Given the description of an element on the screen output the (x, y) to click on. 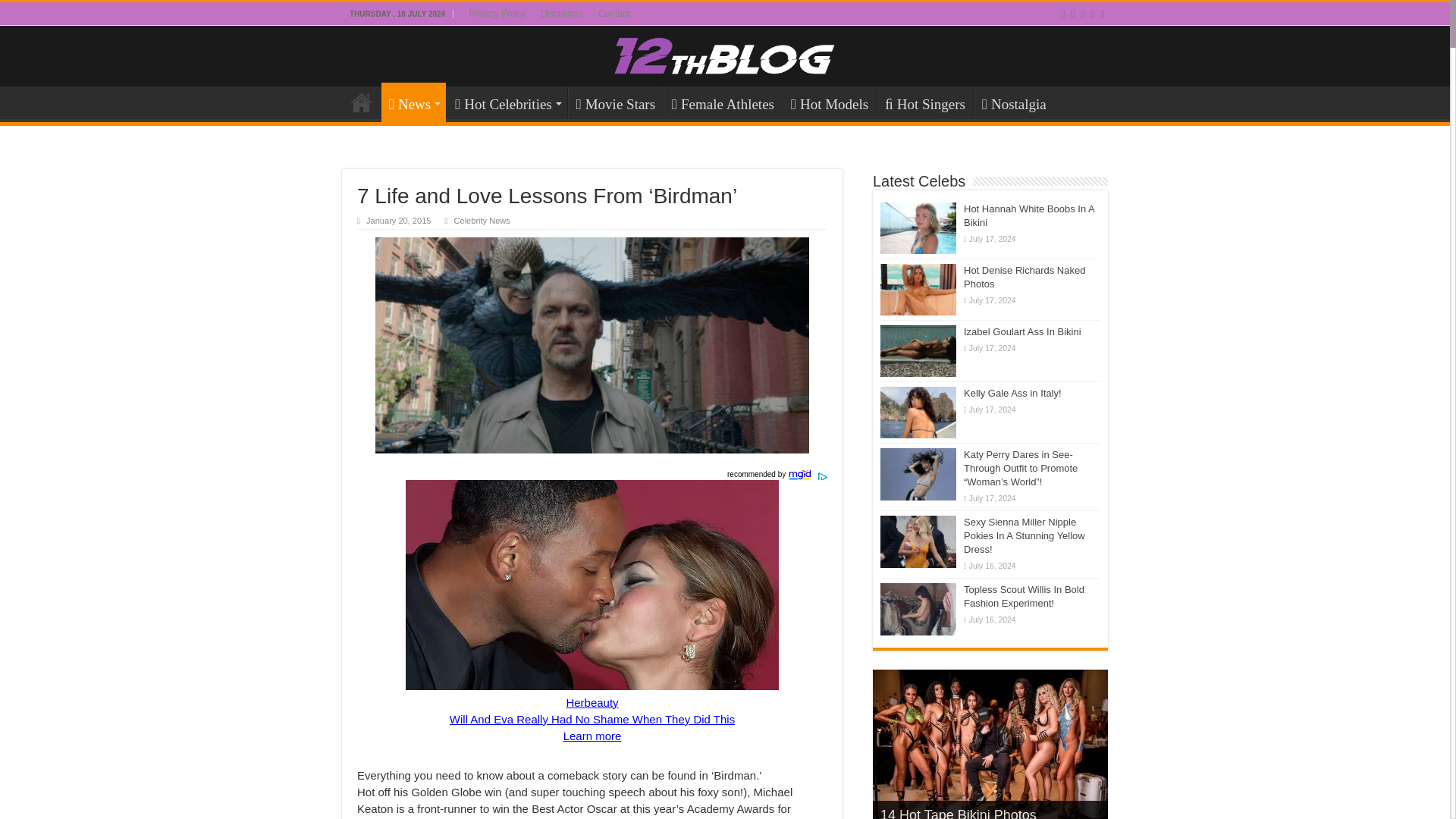
Contact (614, 13)
Privacy Policy (496, 13)
12thBlog (724, 54)
Disclaimer (561, 13)
Home (361, 101)
